Given the description of an element on the screen output the (x, y) to click on. 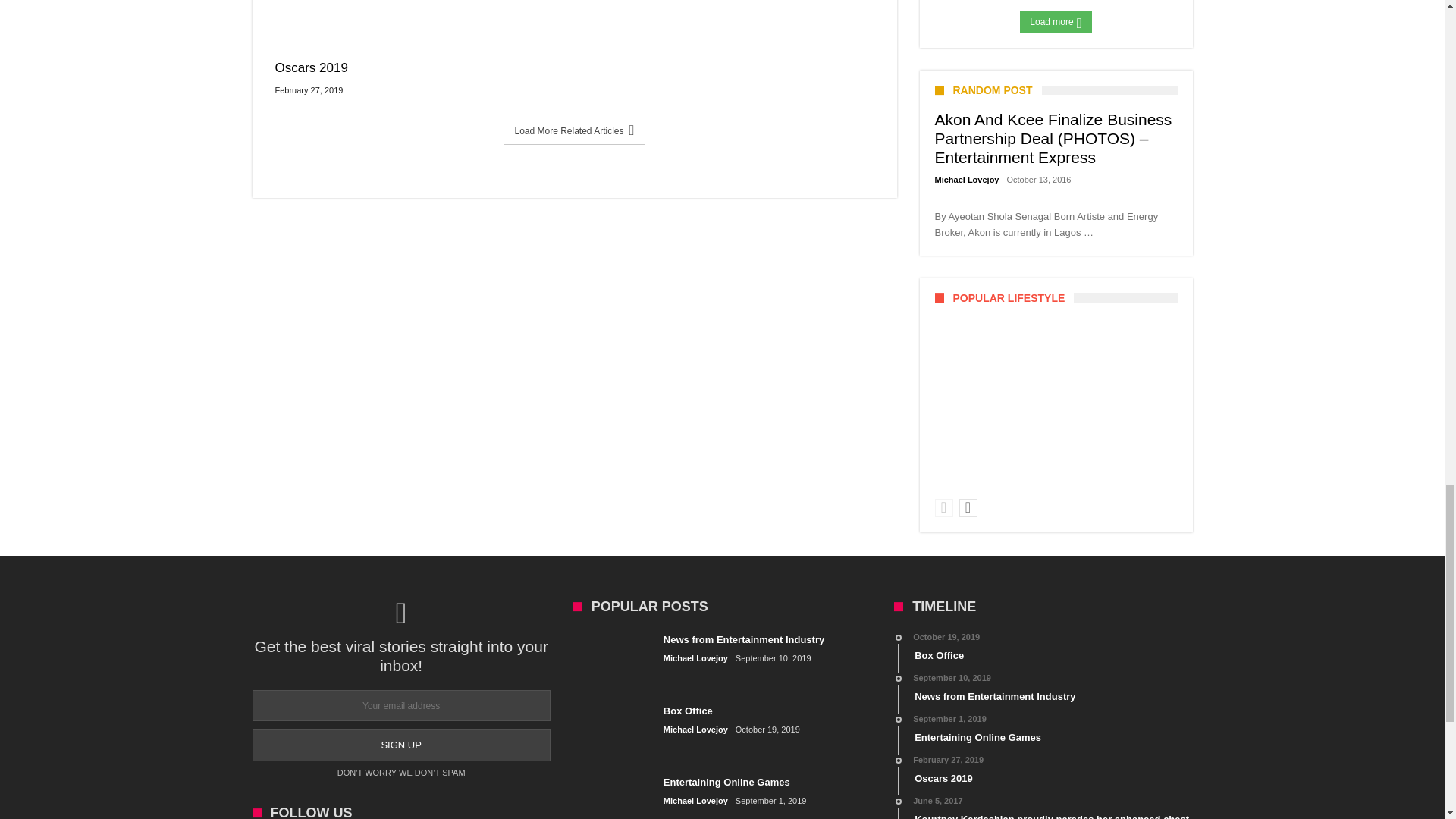
Posts by Michael Lovejoy (695, 658)
Sign up (400, 744)
Posts by Michael Lovejoy (695, 729)
Posts by Michael Lovejoy (695, 800)
Posts by Michael Lovejoy (966, 179)
